Given the description of an element on the screen output the (x, y) to click on. 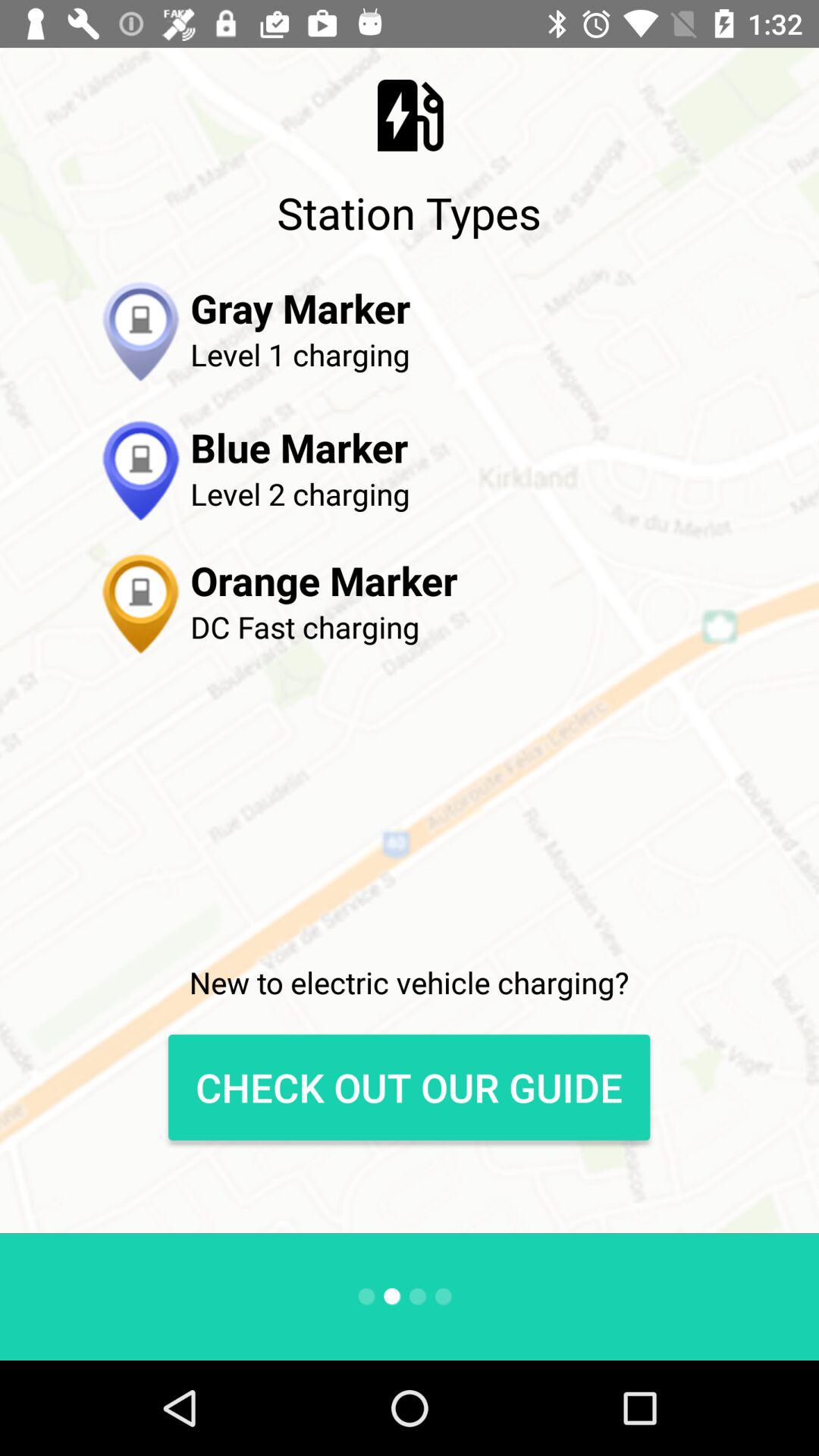
click on check out our guide (409, 1088)
